Given the description of an element on the screen output the (x, y) to click on. 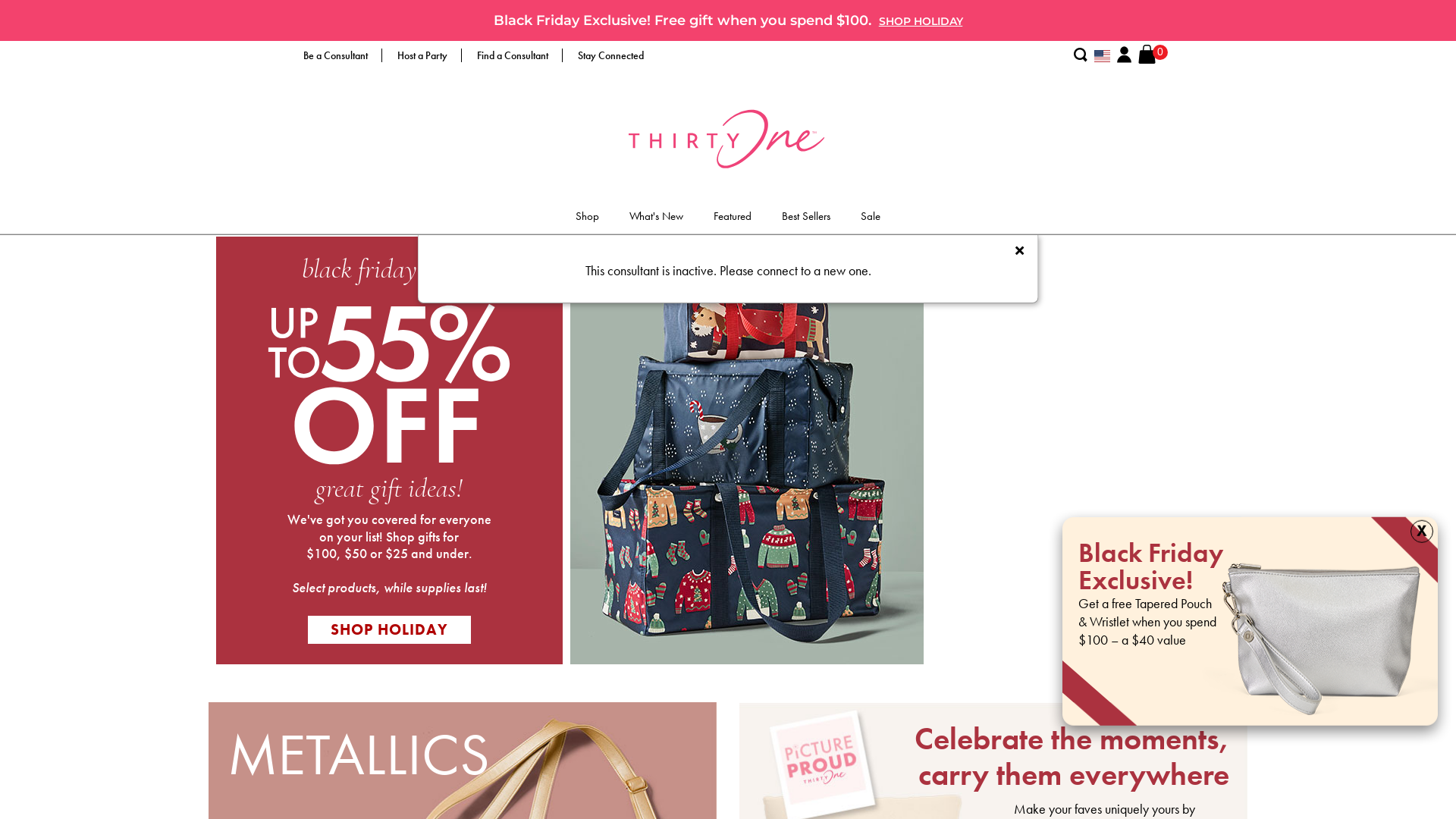
SHOP HOLIDAY Element type: text (388, 629)
Be a Consultant Element type: text (335, 55)
Stay Connected Element type: text (610, 55)
Find a Consultant Element type: text (512, 55)
0 Element type: text (1146, 53)
Shop Element type: text (586, 219)
Sale Element type: text (870, 219)
Featured Element type: text (732, 219)
SHOP HOLIDAY Element type: text (920, 21)
Best Sellers Element type: text (805, 219)
Host a Party Element type: text (422, 55)
Thirty-One Gifts Element type: hover (727, 136)
Close Element type: text (1019, 251)
What's New Element type: text (655, 219)
X Element type: text (1421, 531)
Black Friday
Exclusive! Element type: text (1150, 570)
